Given the description of an element on the screen output the (x, y) to click on. 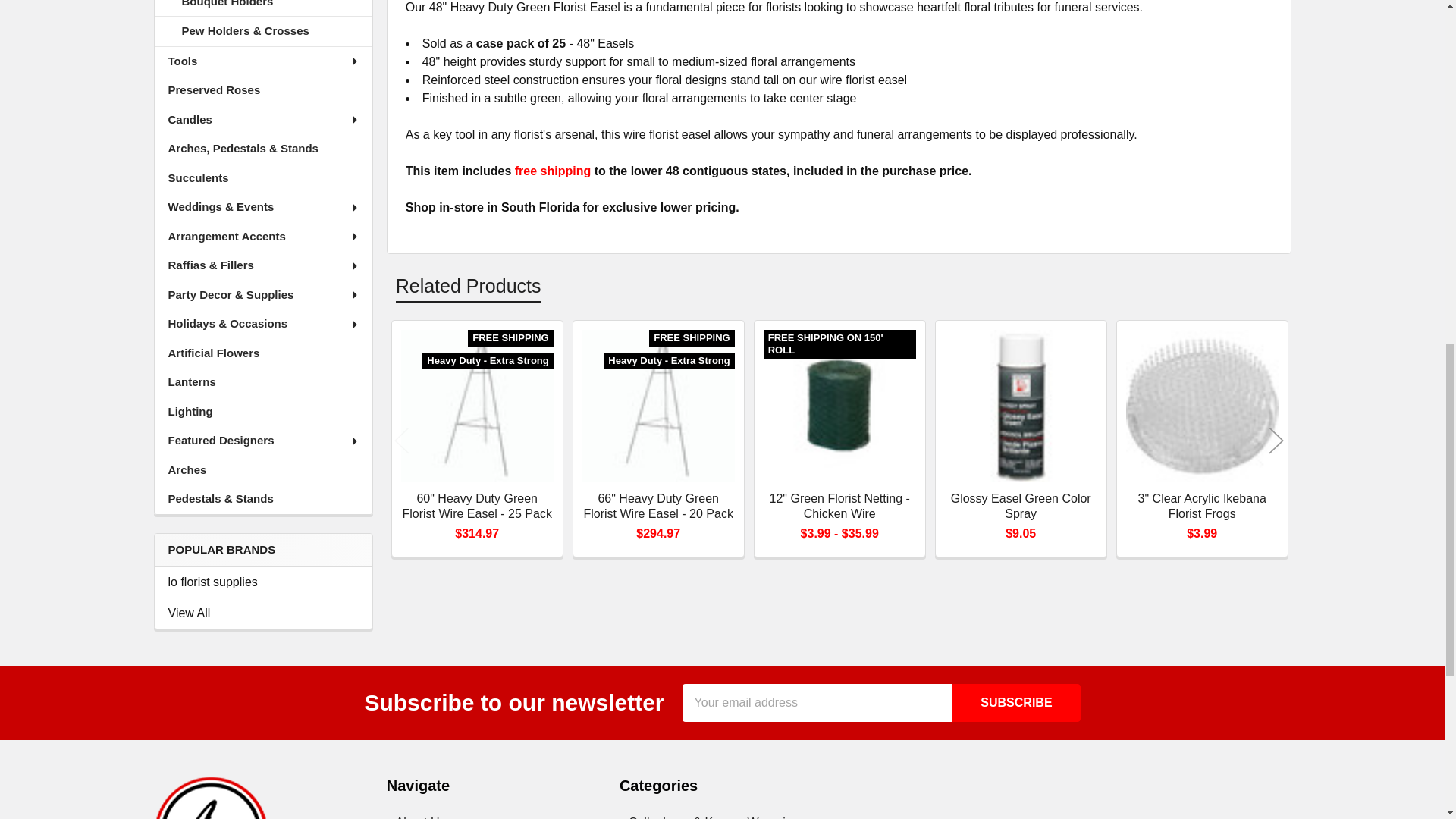
60" Heavy Duty Green Florist Wire Easel - 25 Pack (477, 406)
66" Heavy Duty Green Florist Wire Easel - 20 Pack (658, 406)
Glossy Easel Green Color Spray (1020, 406)
lo florist supplies (263, 582)
12" Green Florist Netting - Chicken Wire (838, 406)
Subscribe (1016, 702)
